Given the description of an element on the screen output the (x, y) to click on. 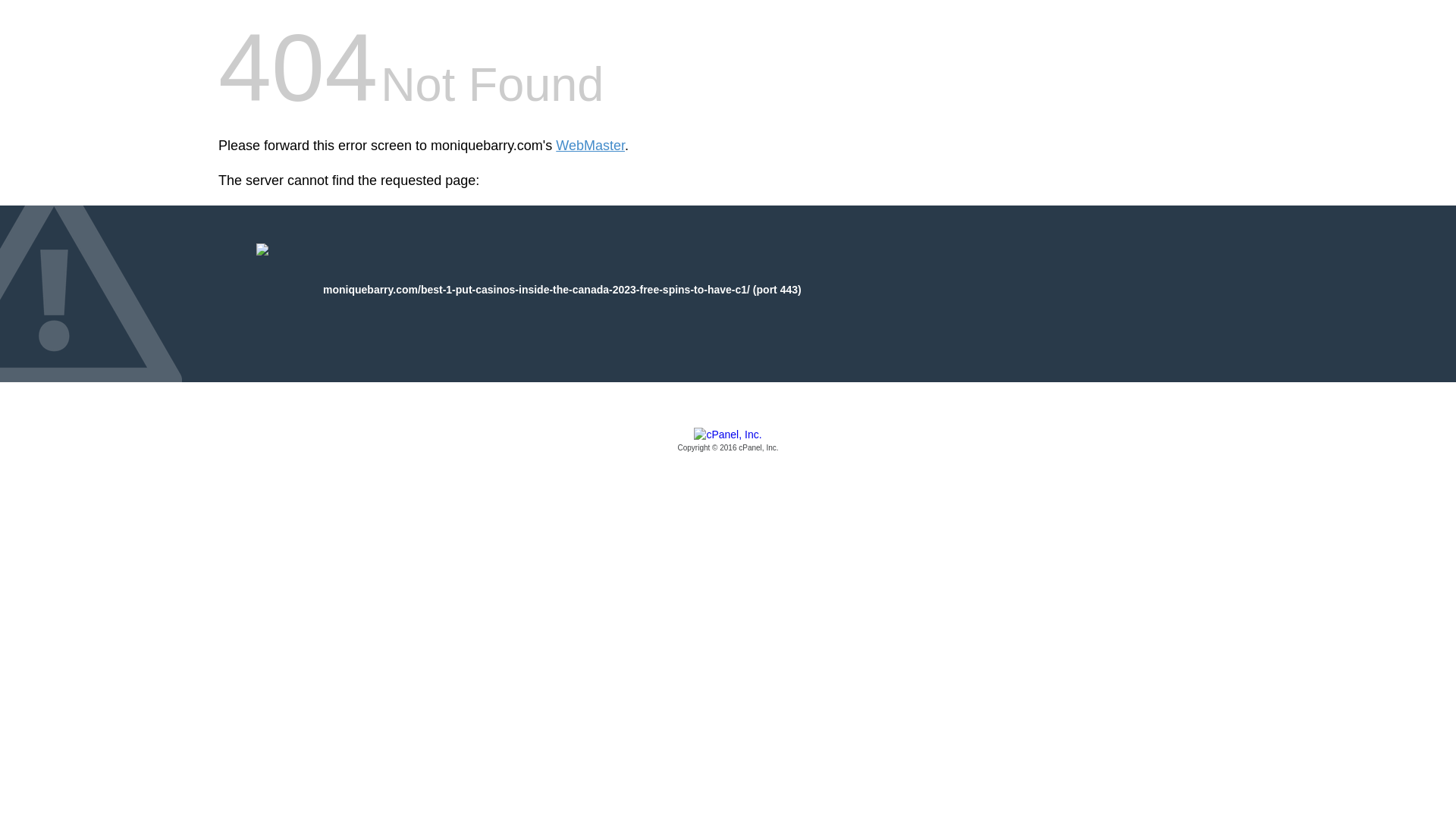
WebMaster (590, 145)
cPanel, Inc. (727, 440)
